Given the description of an element on the screen output the (x, y) to click on. 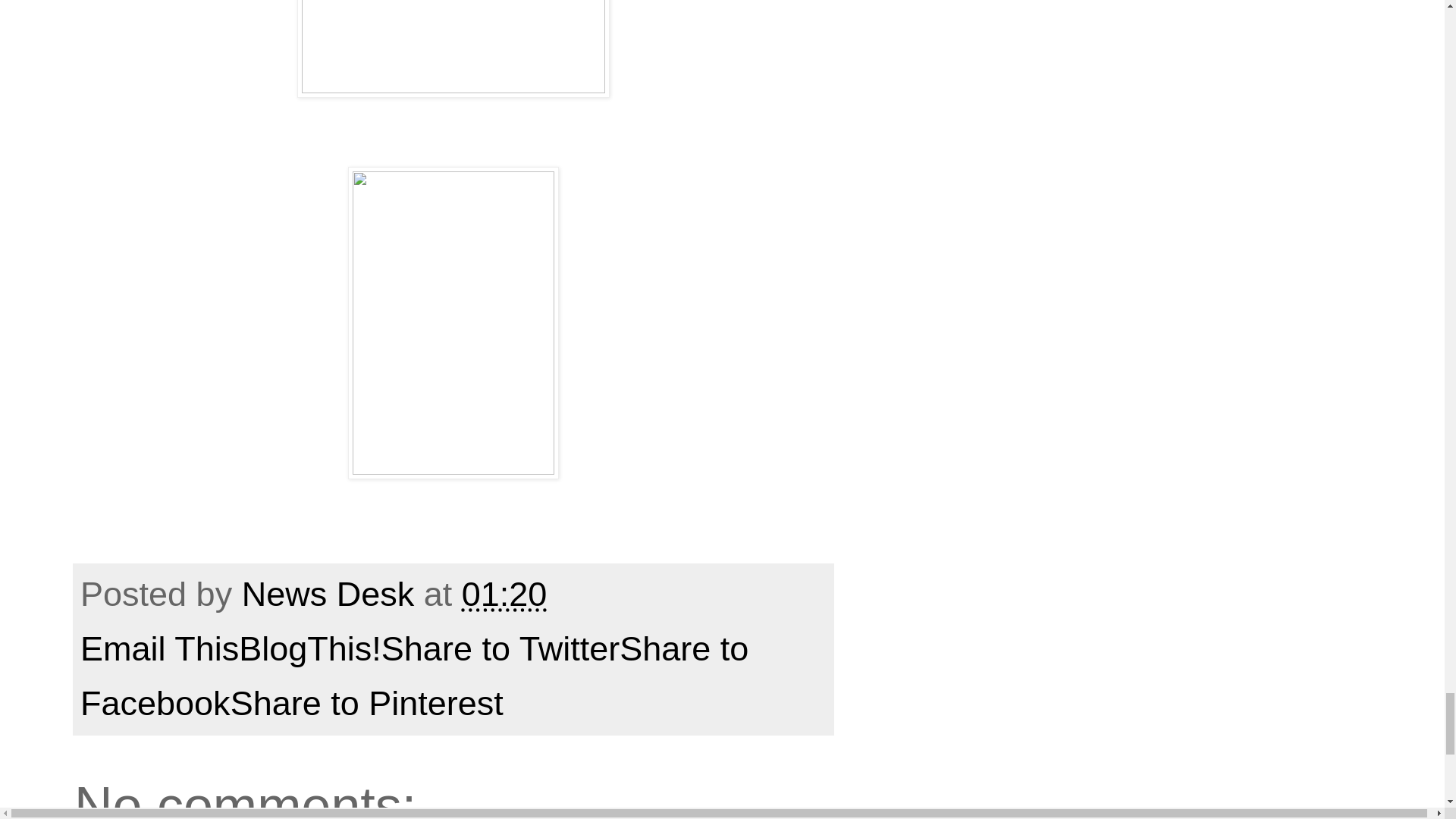
Share to Facebook (414, 675)
Email This (159, 648)
Email This (159, 648)
BlogThis! (309, 648)
permanent link (504, 593)
News Desk (332, 593)
author profile (332, 593)
01:20 (504, 593)
Share to Twitter (500, 648)
Share to Facebook (414, 675)
